Given the description of an element on the screen output the (x, y) to click on. 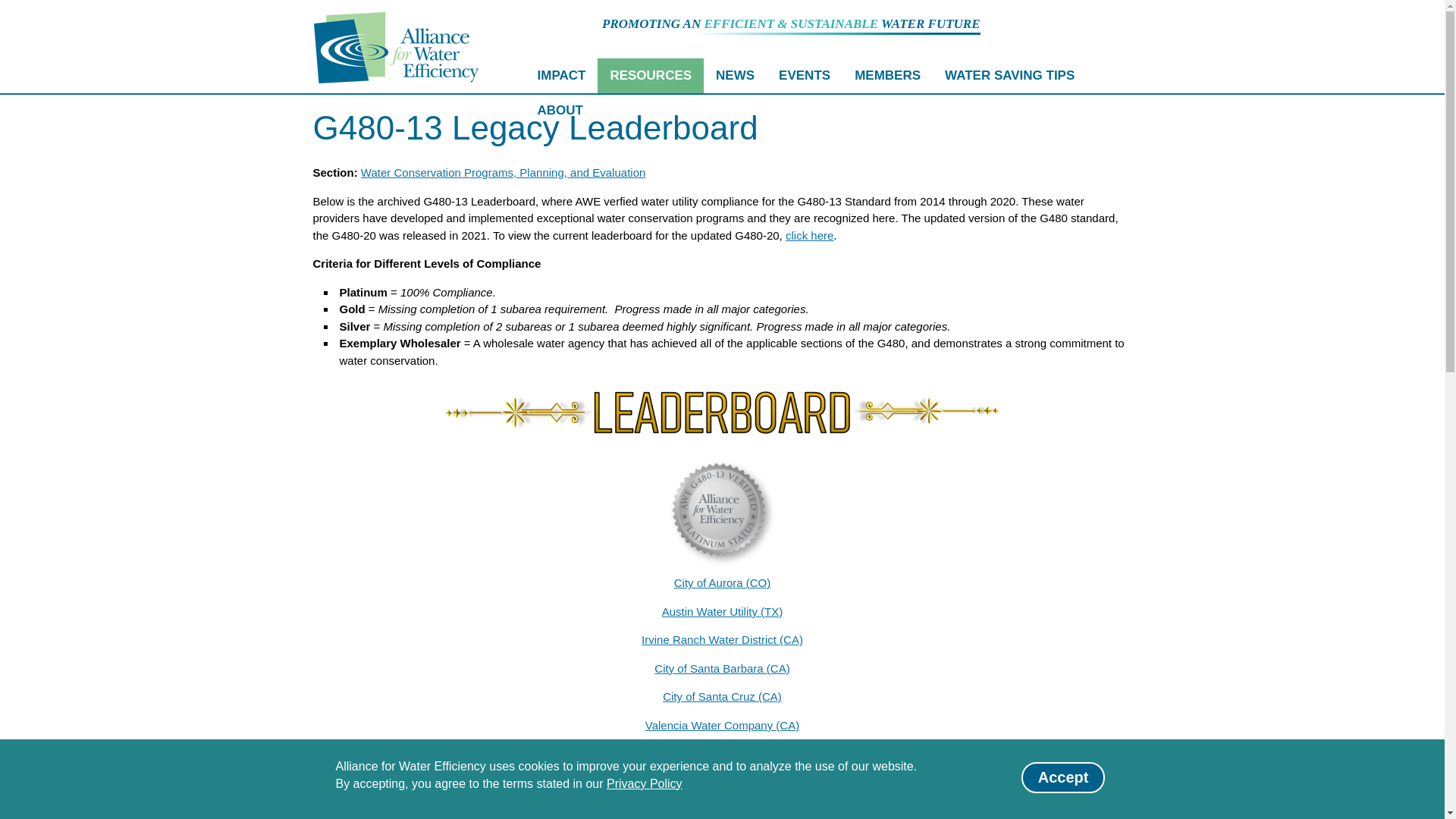
IMPACT (560, 75)
Alliance for Water Efficiency (396, 47)
RESOURCES (649, 75)
